Given the description of an element on the screen output the (x, y) to click on. 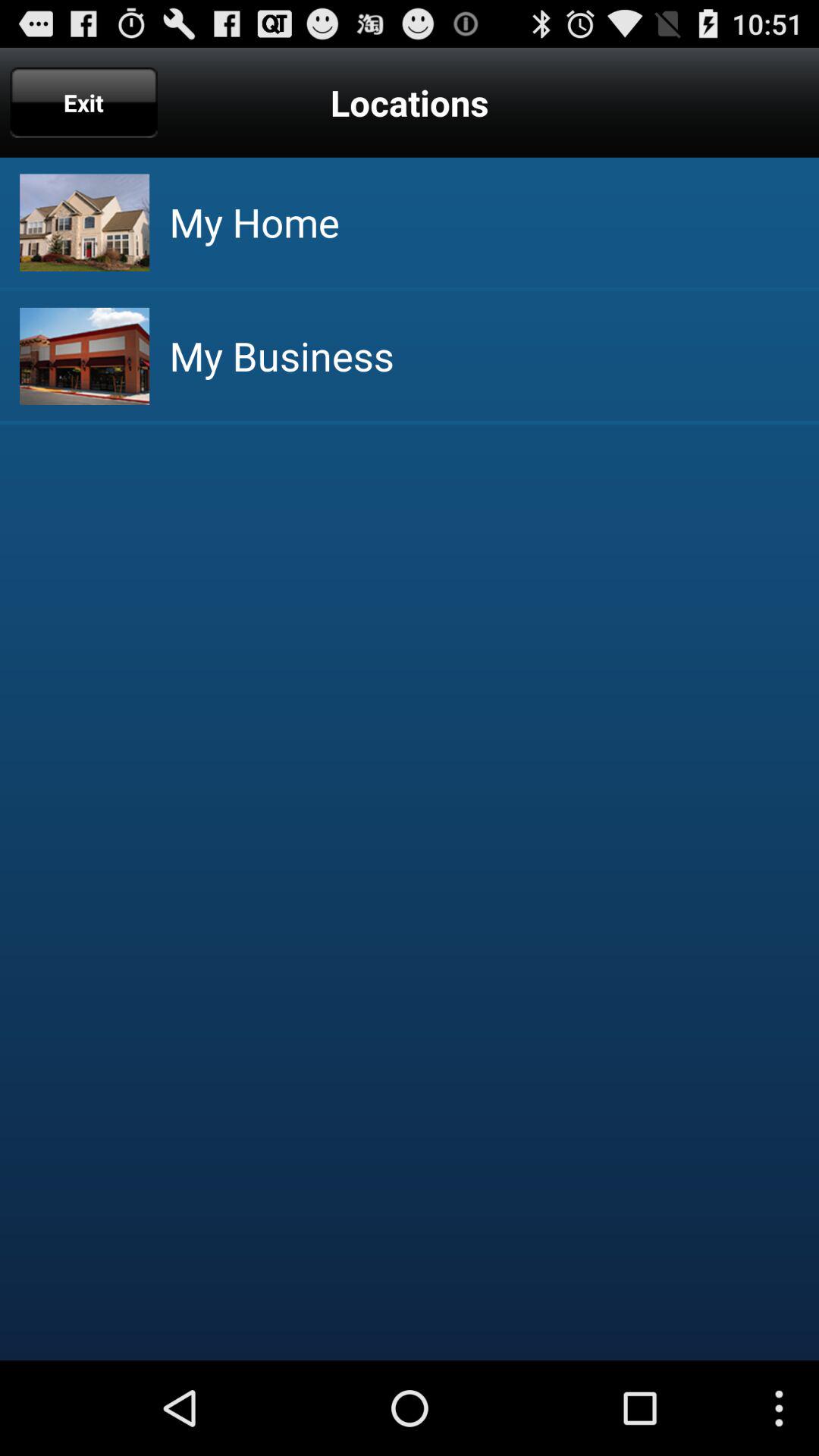
press icon below my home (281, 355)
